Given the description of an element on the screen output the (x, y) to click on. 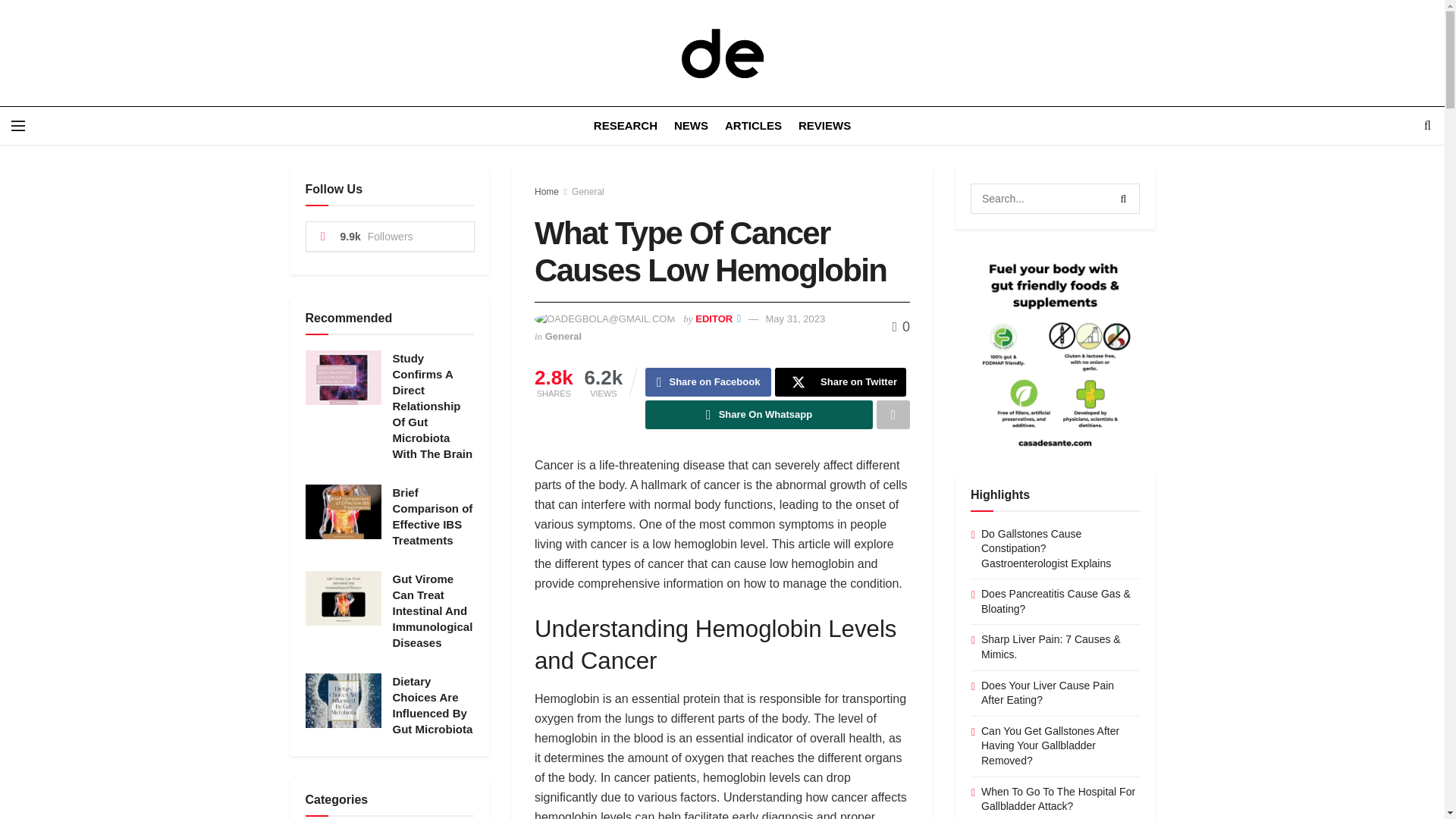
May 31, 2023 (795, 318)
Share On Whatsapp (758, 414)
ARTICLES (753, 125)
Share on Facebook (708, 381)
Home (546, 191)
General (588, 191)
0 (900, 326)
REVIEWS (823, 125)
RESEARCH (626, 125)
Share on Twitter (839, 381)
NEWS (690, 125)
General (562, 336)
EDITOR (713, 318)
